Given the description of an element on the screen output the (x, y) to click on. 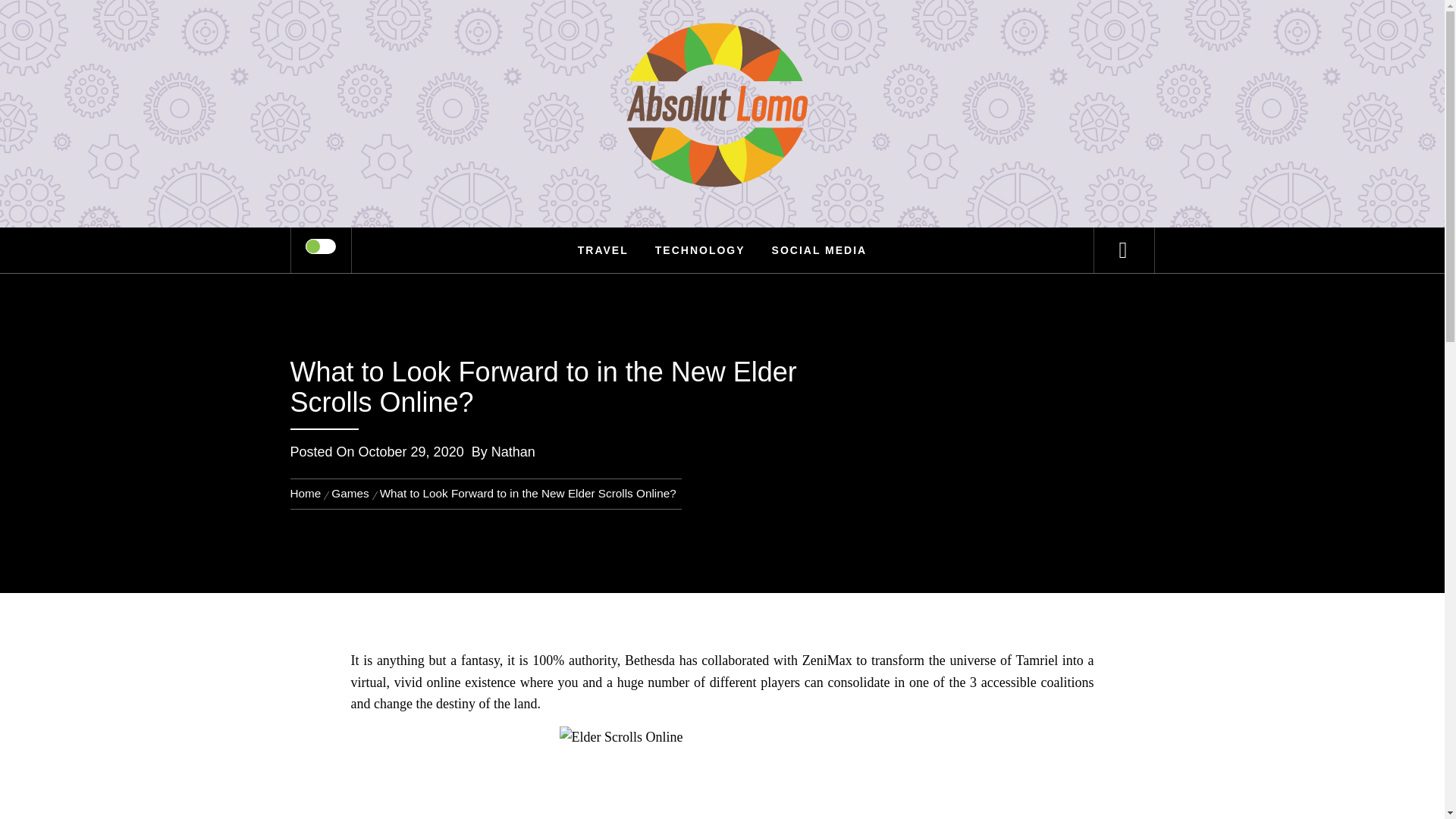
October 29, 2020 (411, 451)
Games (350, 492)
SOCIAL MEDIA (819, 249)
TRAVEL (603, 249)
Search (797, 33)
TECHNOLOGY (700, 249)
Nathan (513, 451)
Home (307, 492)
ABSOLUT LOMO (721, 61)
